Given the description of an element on the screen output the (x, y) to click on. 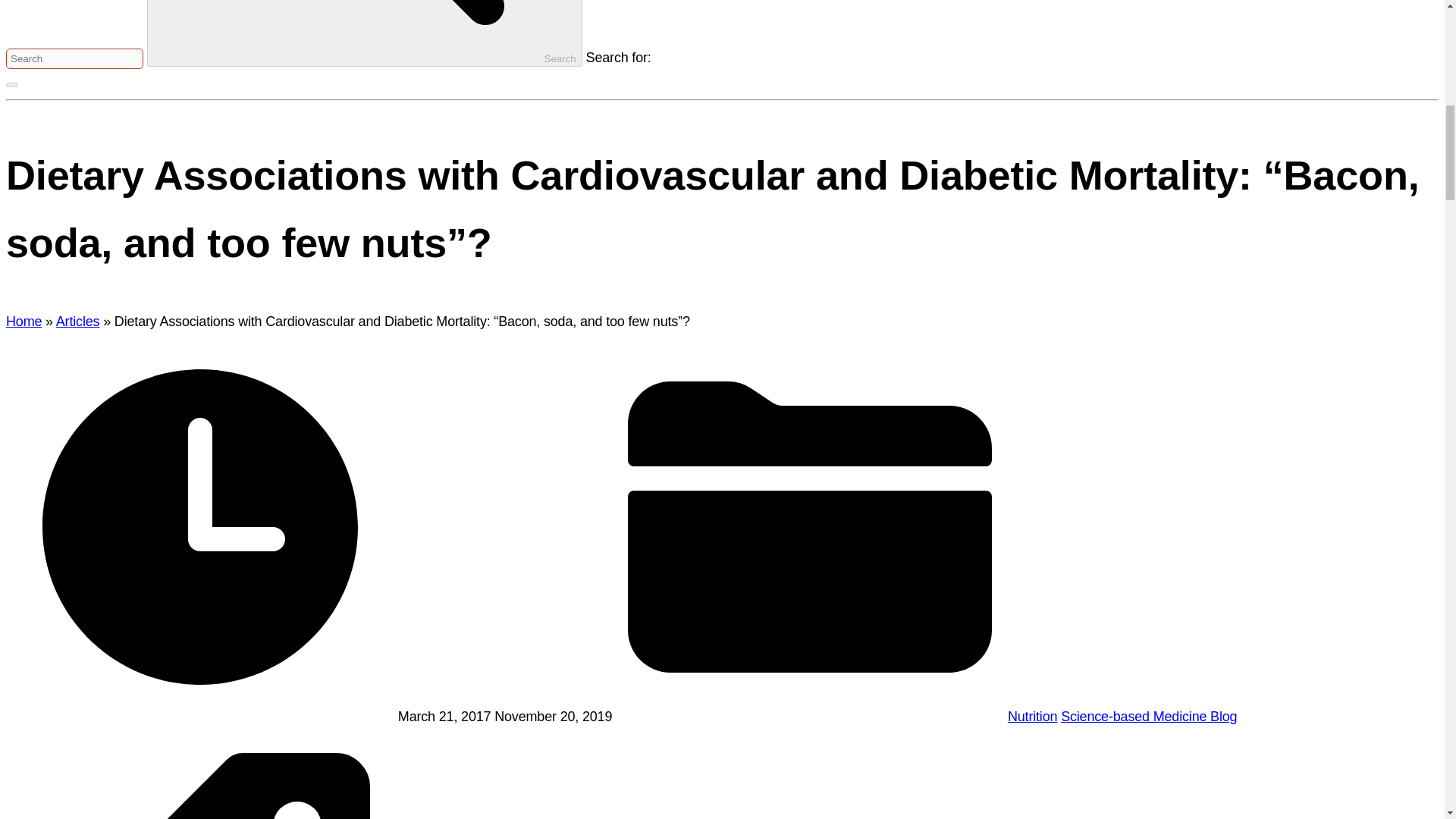
Nutrition (1032, 716)
Articles (78, 321)
Home (23, 321)
Science-based Medicine Blog (1148, 716)
Search (364, 33)
